Given the description of an element on the screen output the (x, y) to click on. 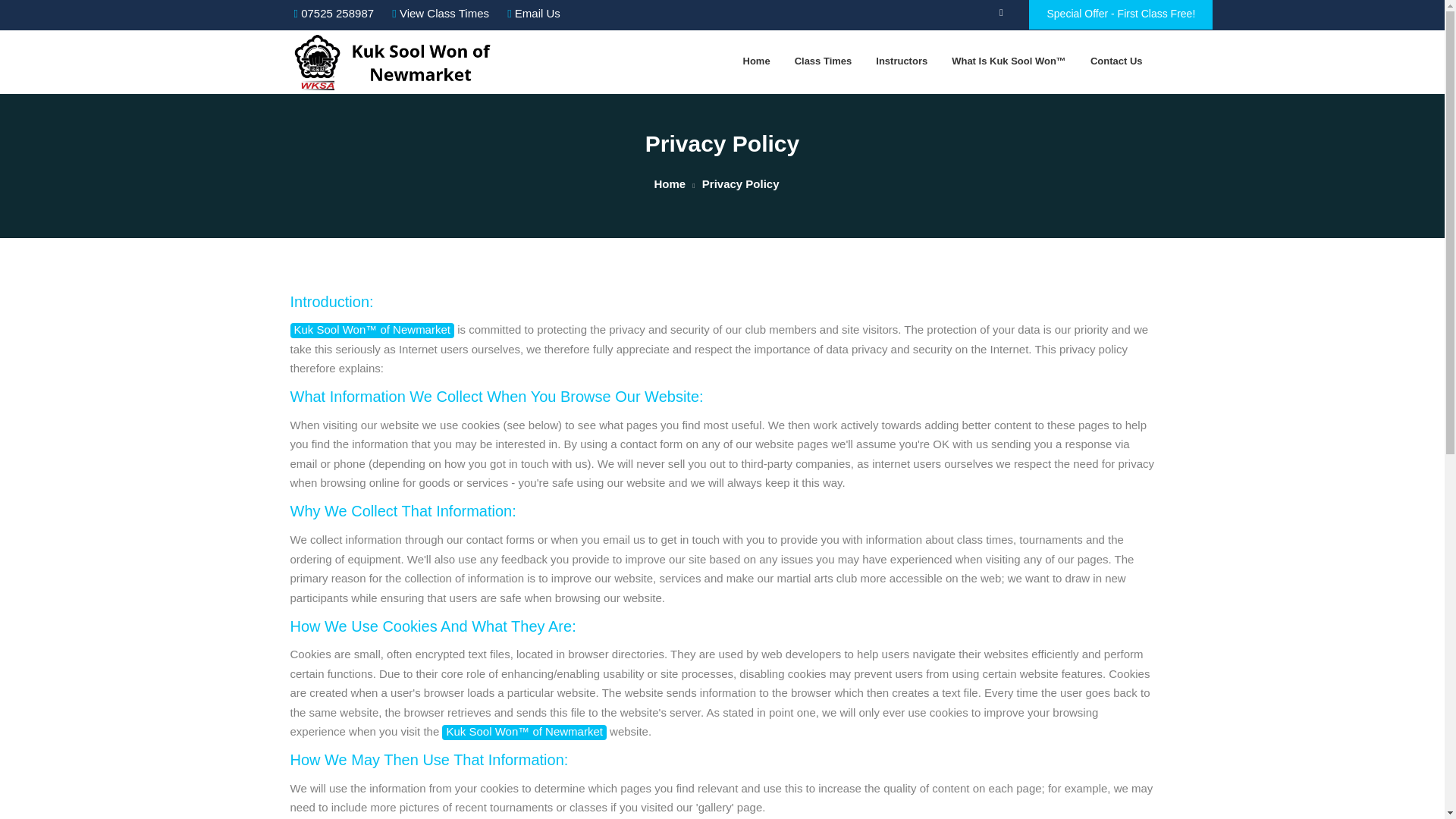
View Class Times (440, 12)
07525 258987 (334, 12)
Class Times (823, 61)
Contact Us (1116, 61)
Instructors (901, 61)
Home (669, 183)
Home (756, 61)
Special Offer - First Class Free! (1120, 14)
Email Us (533, 12)
